Given the description of an element on the screen output the (x, y) to click on. 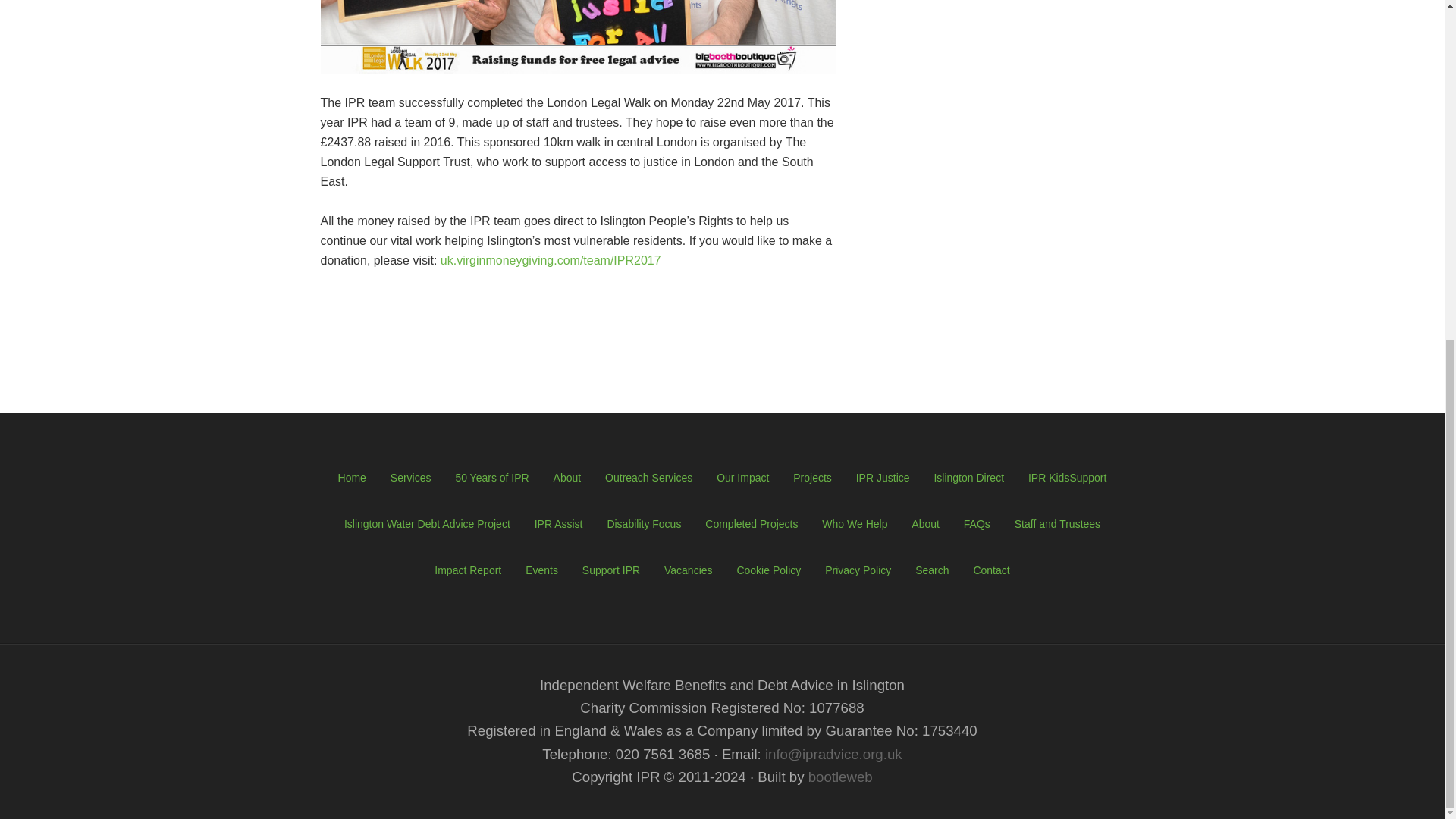
Services (410, 477)
Outreach Services (649, 477)
IPR KidsSupport (1066, 477)
Islington Direct (968, 477)
Bootleweb (840, 776)
IPR Justice (883, 477)
Projects (812, 477)
50 Years of IPR (491, 477)
Home (351, 477)
About (566, 477)
